Given the description of an element on the screen output the (x, y) to click on. 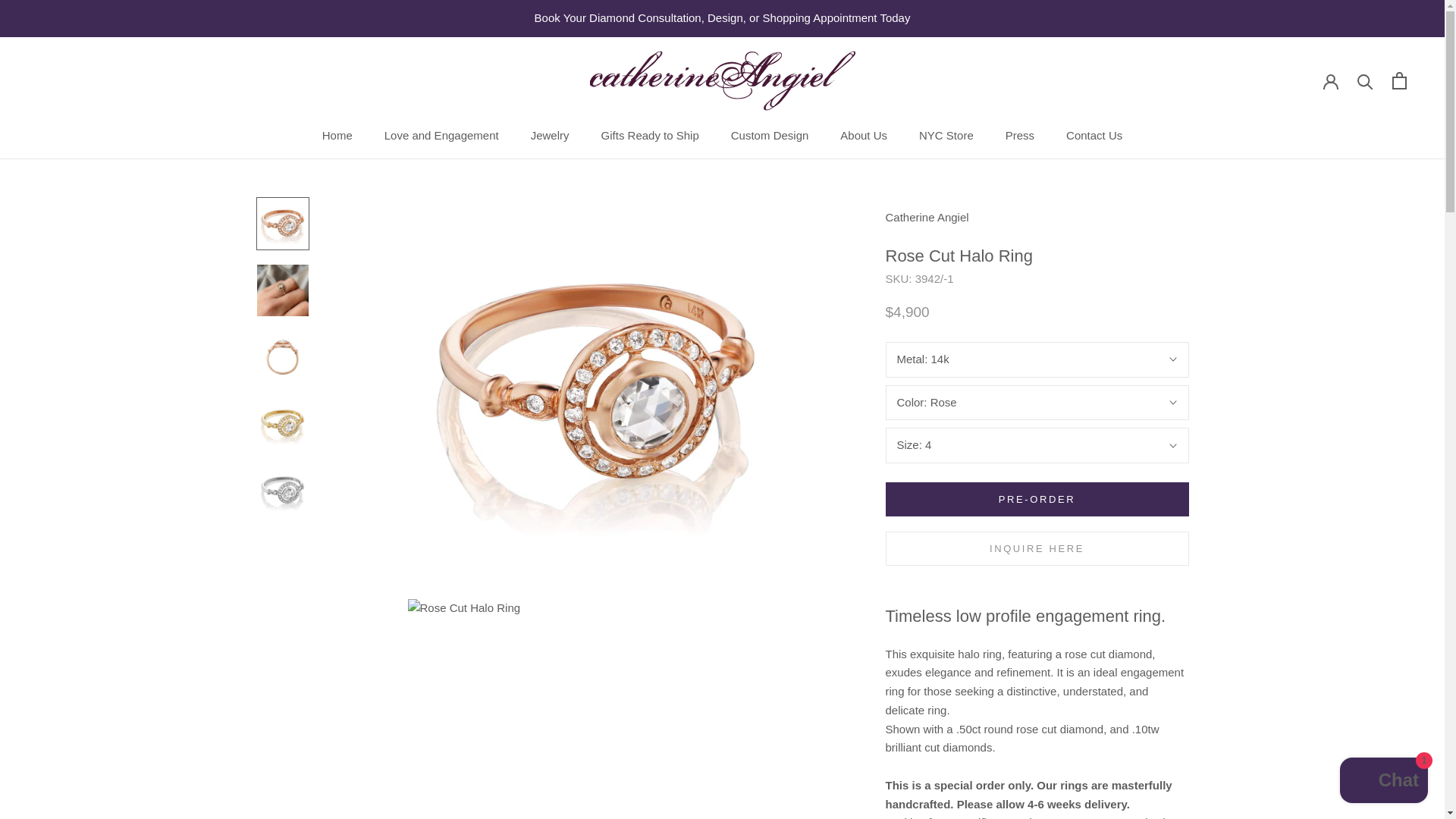
Shopify online store chat (1383, 781)
